Given the description of an element on the screen output the (x, y) to click on. 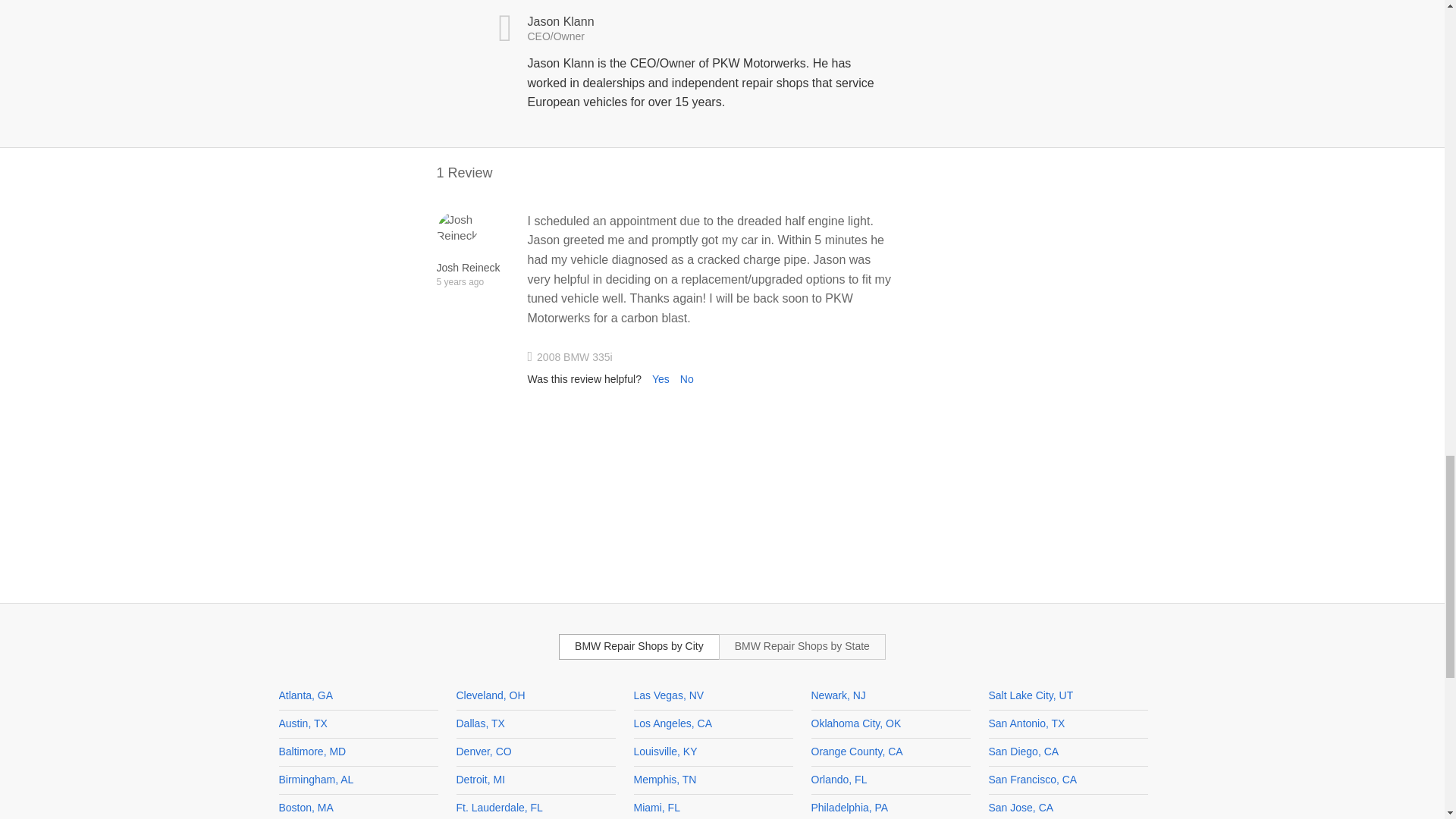
No (686, 379)
Birmingham, AL (316, 779)
Austin, TX (303, 723)
BMW Repair Shops by City (639, 646)
Atlanta, GA (306, 695)
Yes (660, 379)
Baltimore, MD (312, 751)
BMW Repair Shops by State (802, 646)
Josh Reineck (457, 227)
Boston, MA (306, 807)
